Given the description of an element on the screen output the (x, y) to click on. 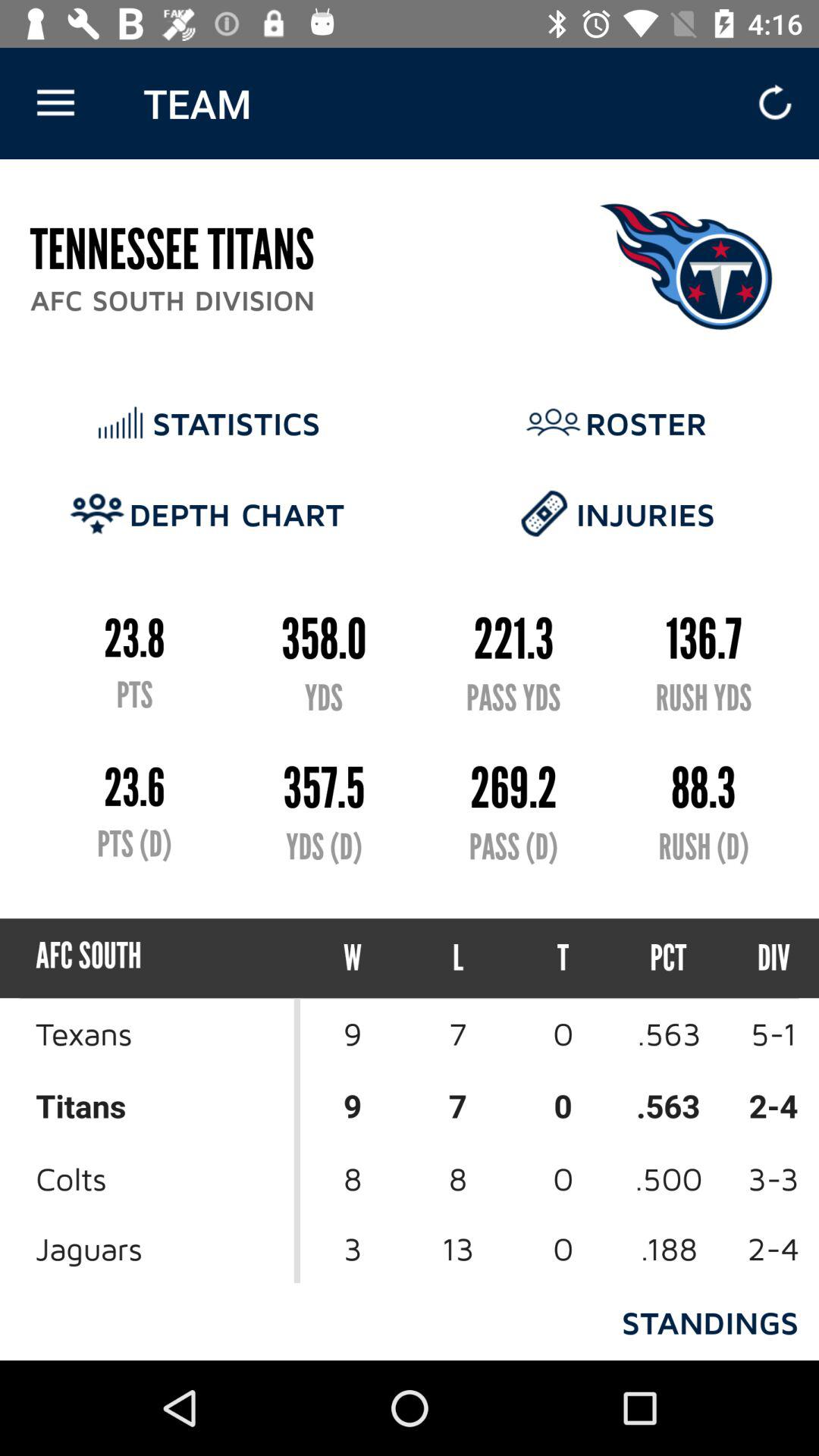
press item below the pass (d) icon (457, 958)
